Given the description of an element on the screen output the (x, y) to click on. 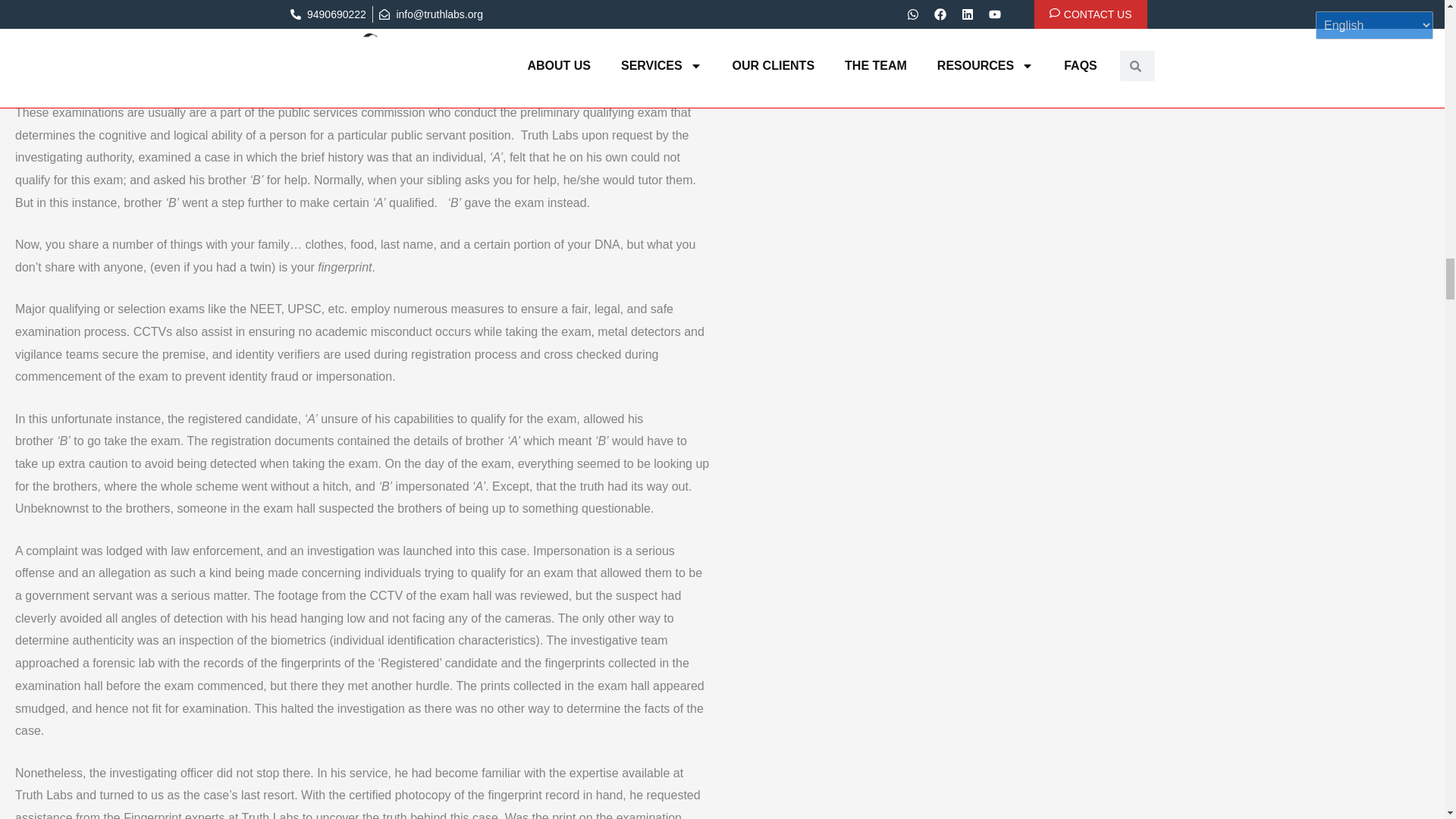
View all posts by truthlaborg (267, 57)
